Given the description of an element on the screen output the (x, y) to click on. 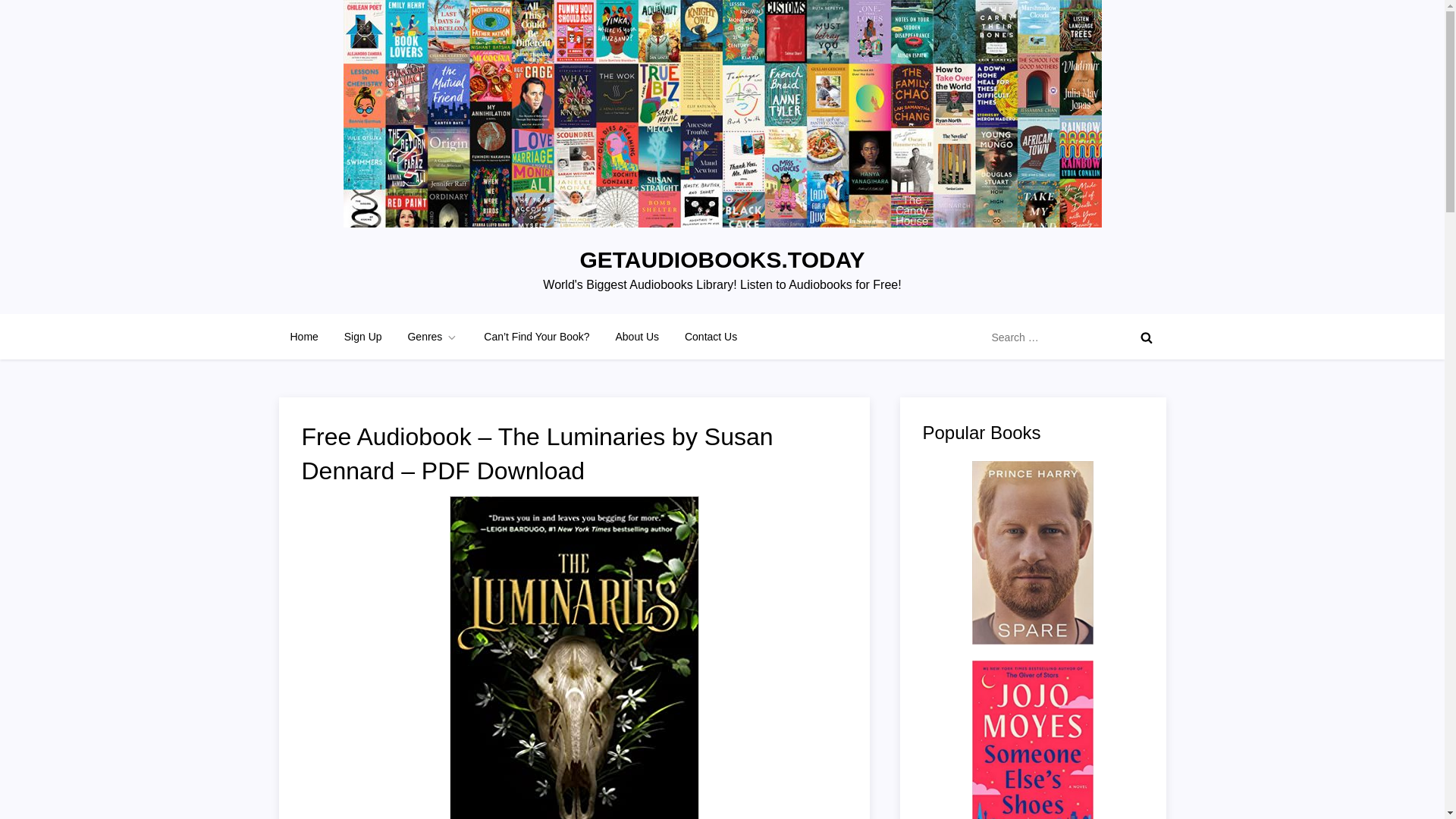
Contact Us (710, 336)
GETAUDIOBOOKS.TODAY (721, 259)
Home (304, 336)
About Us (636, 336)
Sign Up (363, 336)
Genres (432, 336)
